Given the description of an element on the screen output the (x, y) to click on. 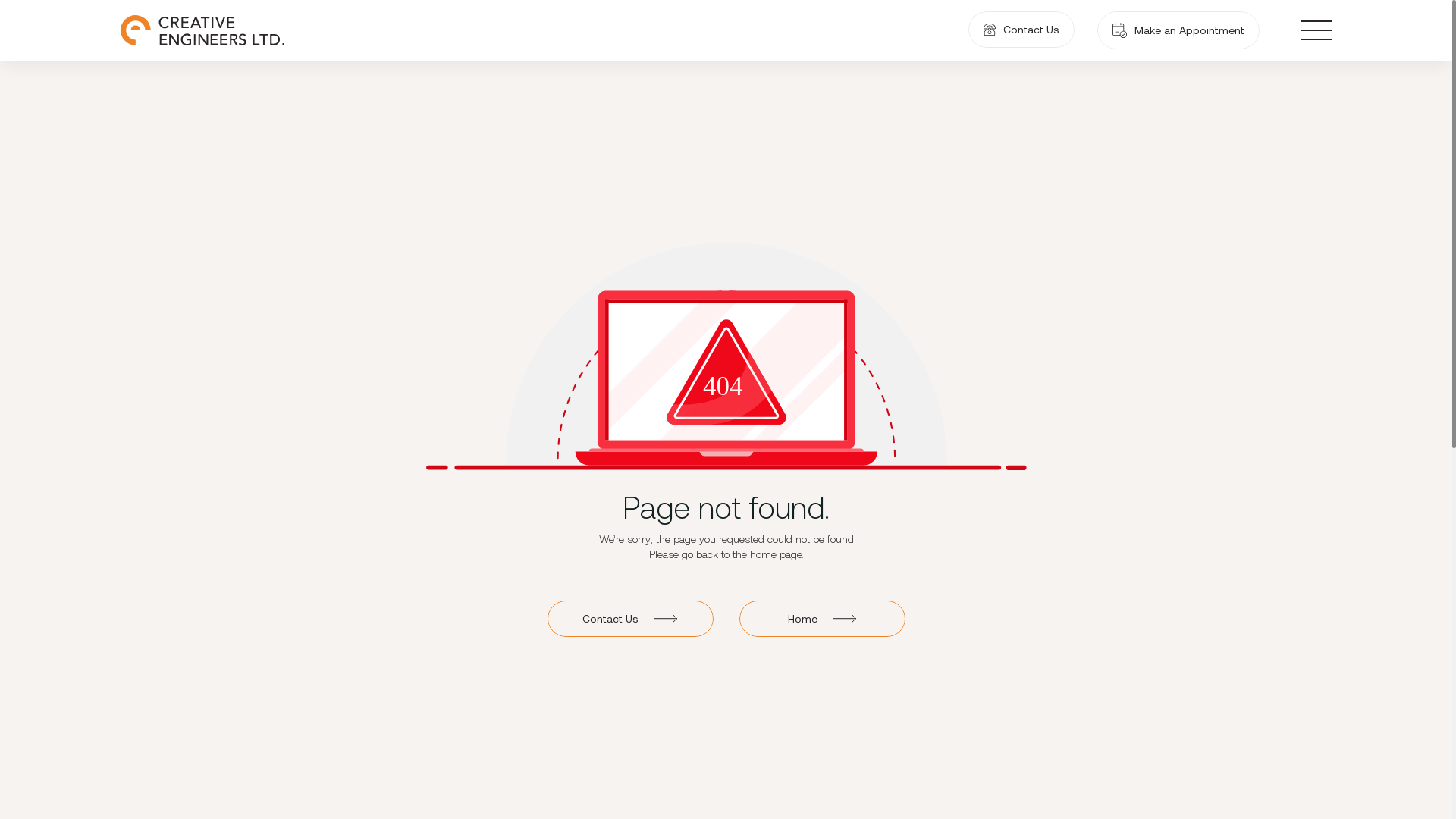
Contact Us Element type: text (1021, 29)
Make an Appointment Element type: text (1178, 30)
Home Element type: text (821, 618)
Contact Us Element type: text (630, 618)
